Given the description of an element on the screen output the (x, y) to click on. 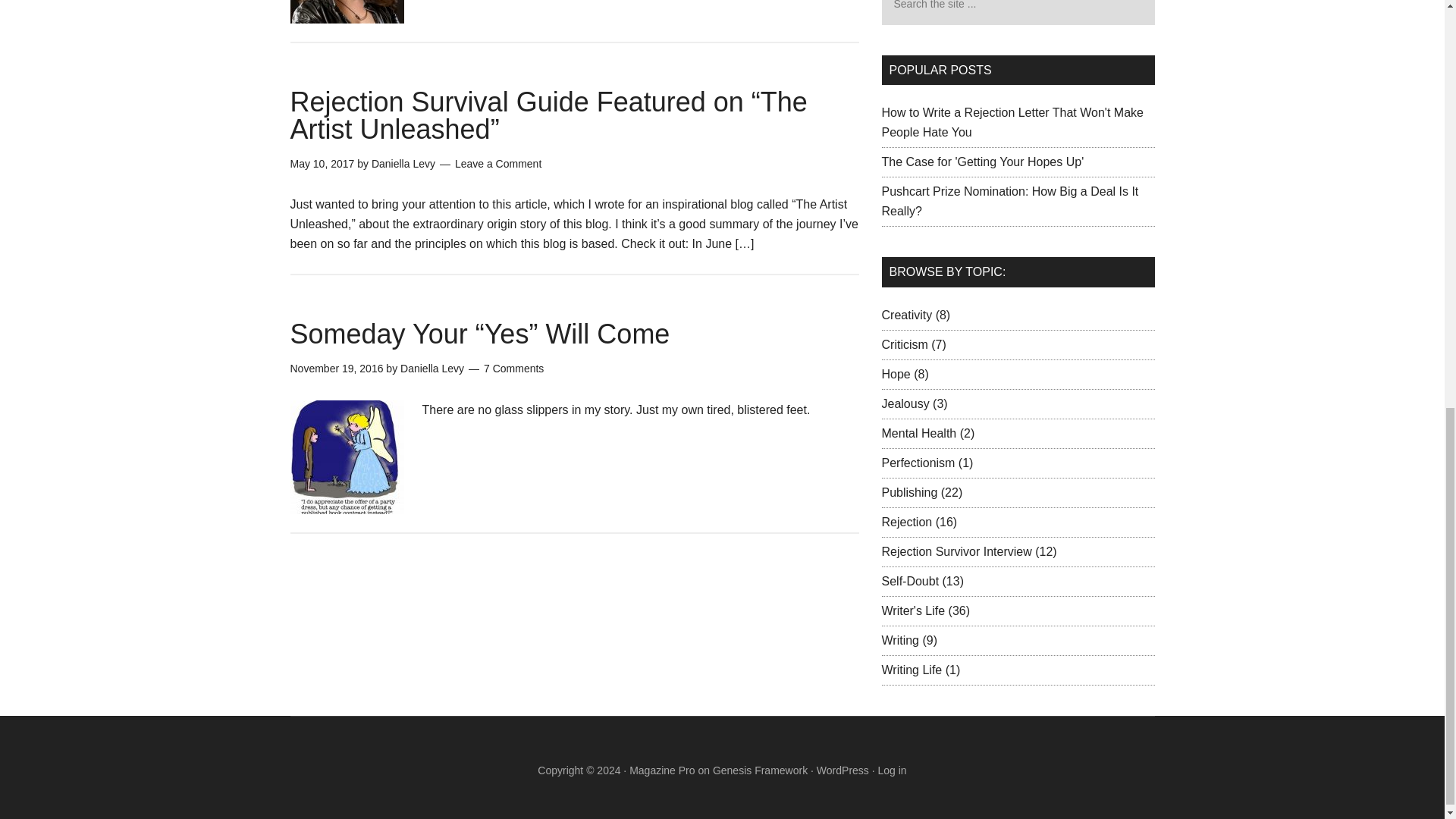
Daniella Levy (403, 163)
Rejection Survivor Interview (955, 550)
Creativity (905, 314)
Perfectionism (917, 462)
Hope (895, 373)
Criticism (903, 344)
Mental Health (918, 431)
Pushcart Prize Nomination: How Big a Deal Is It Really? (1009, 201)
Self-Doubt (909, 581)
Daniella Levy (432, 368)
Publishing (908, 491)
7 Comments (513, 368)
Rejection (905, 521)
Leave a Comment (497, 163)
